Given the description of an element on the screen output the (x, y) to click on. 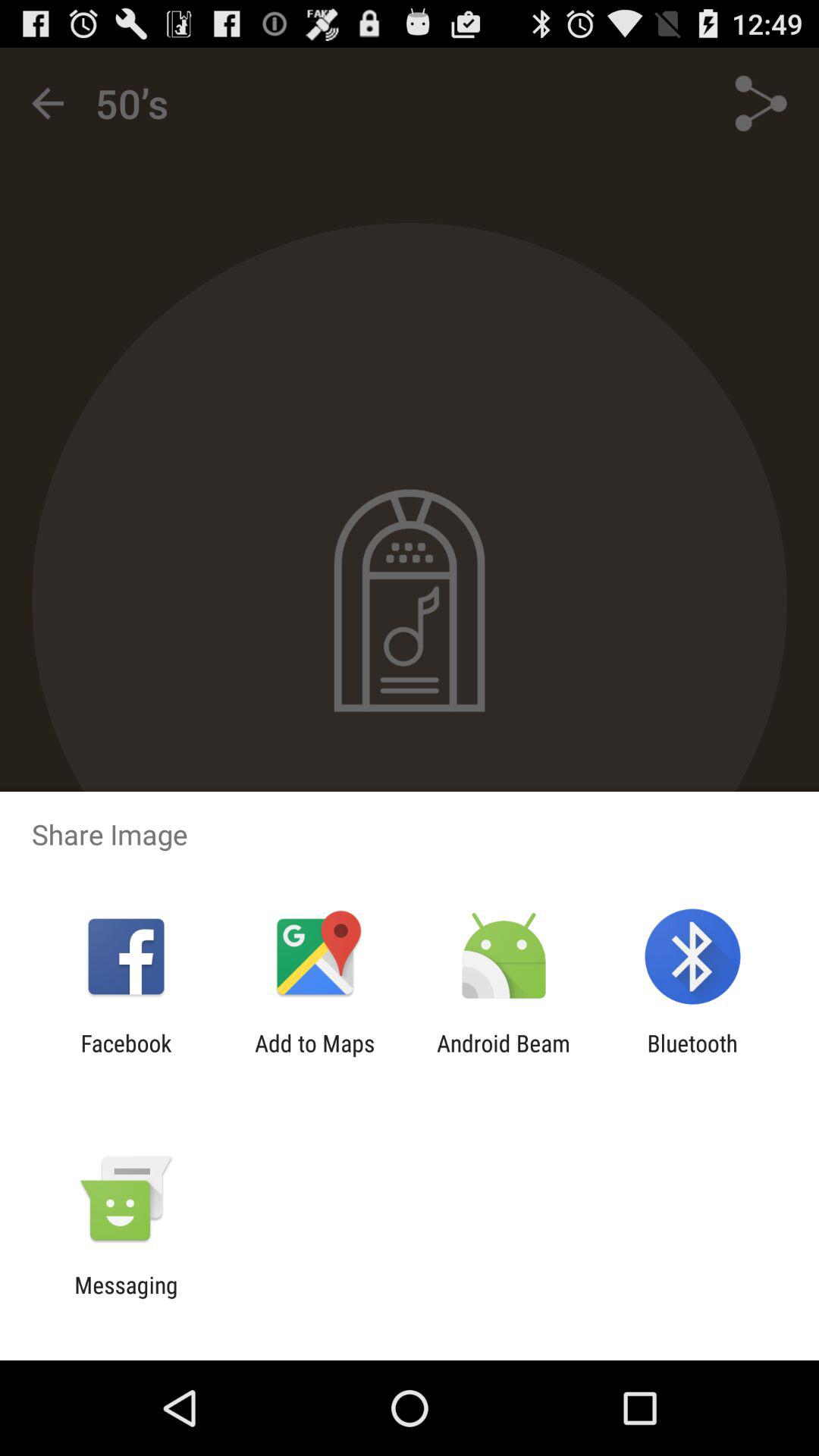
turn off the facebook app (125, 1056)
